Given the description of an element on the screen output the (x, y) to click on. 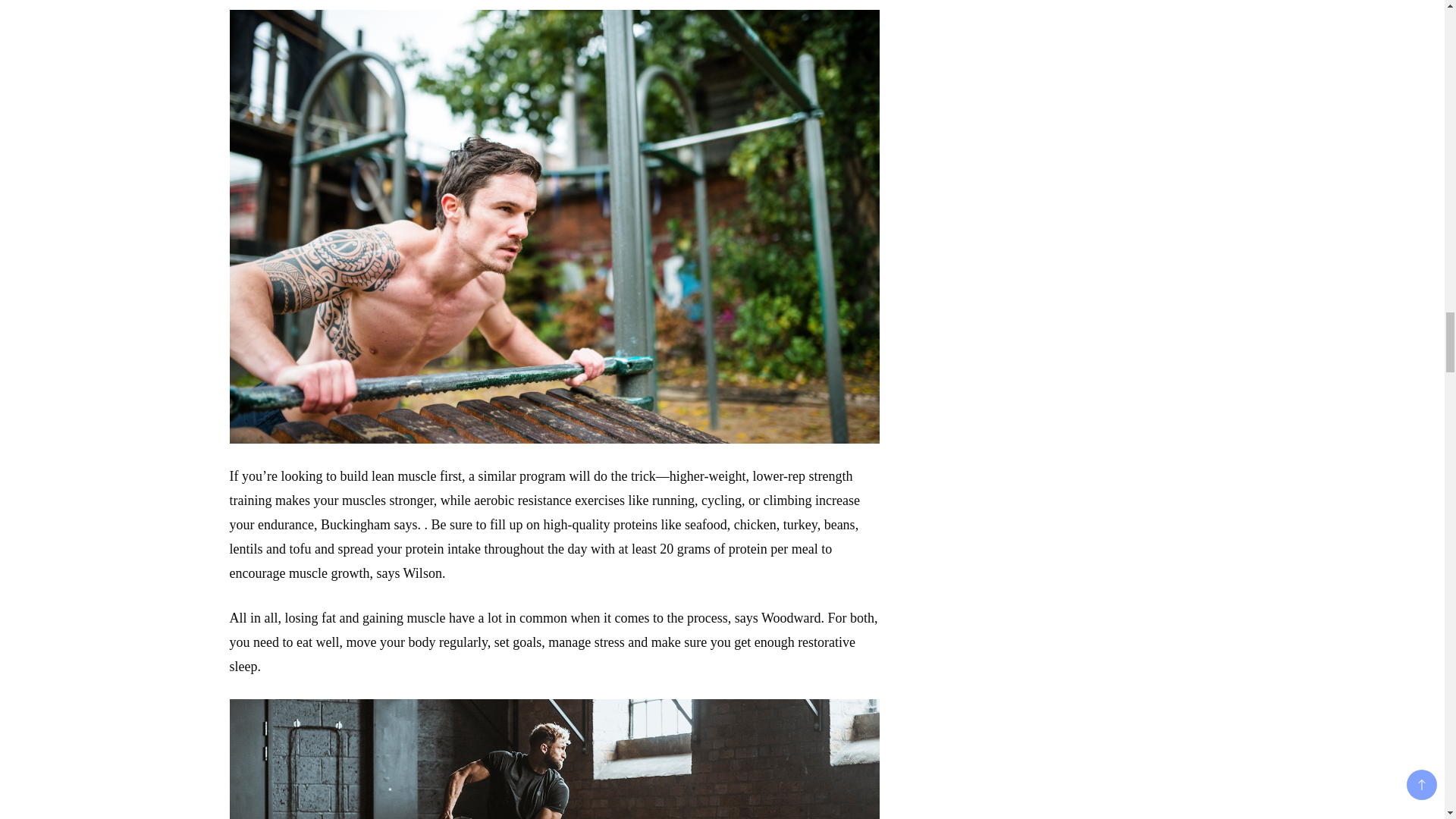
How To Lose Weight And Gain Muscle (553, 759)
